Given the description of an element on the screen output the (x, y) to click on. 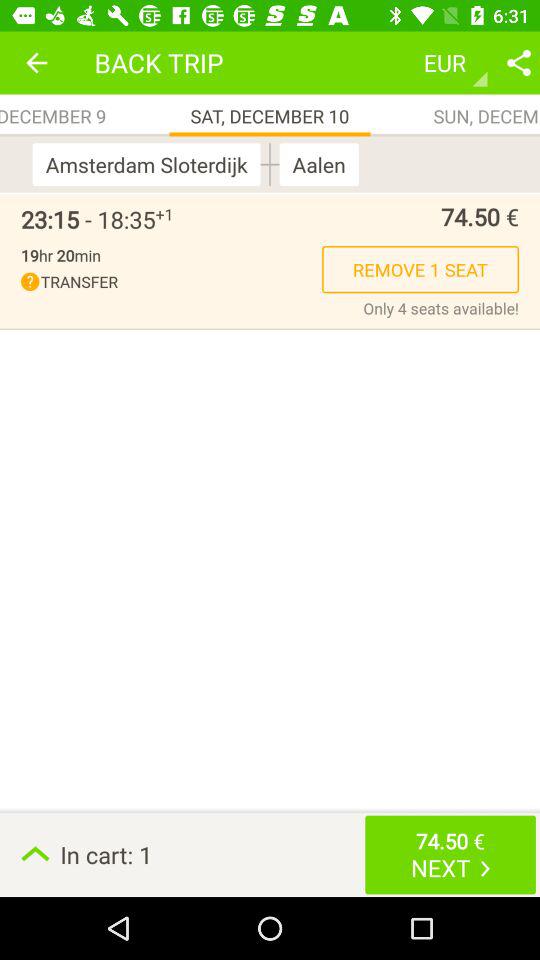
open the icon above the transfer (60, 255)
